Given the description of an element on the screen output the (x, y) to click on. 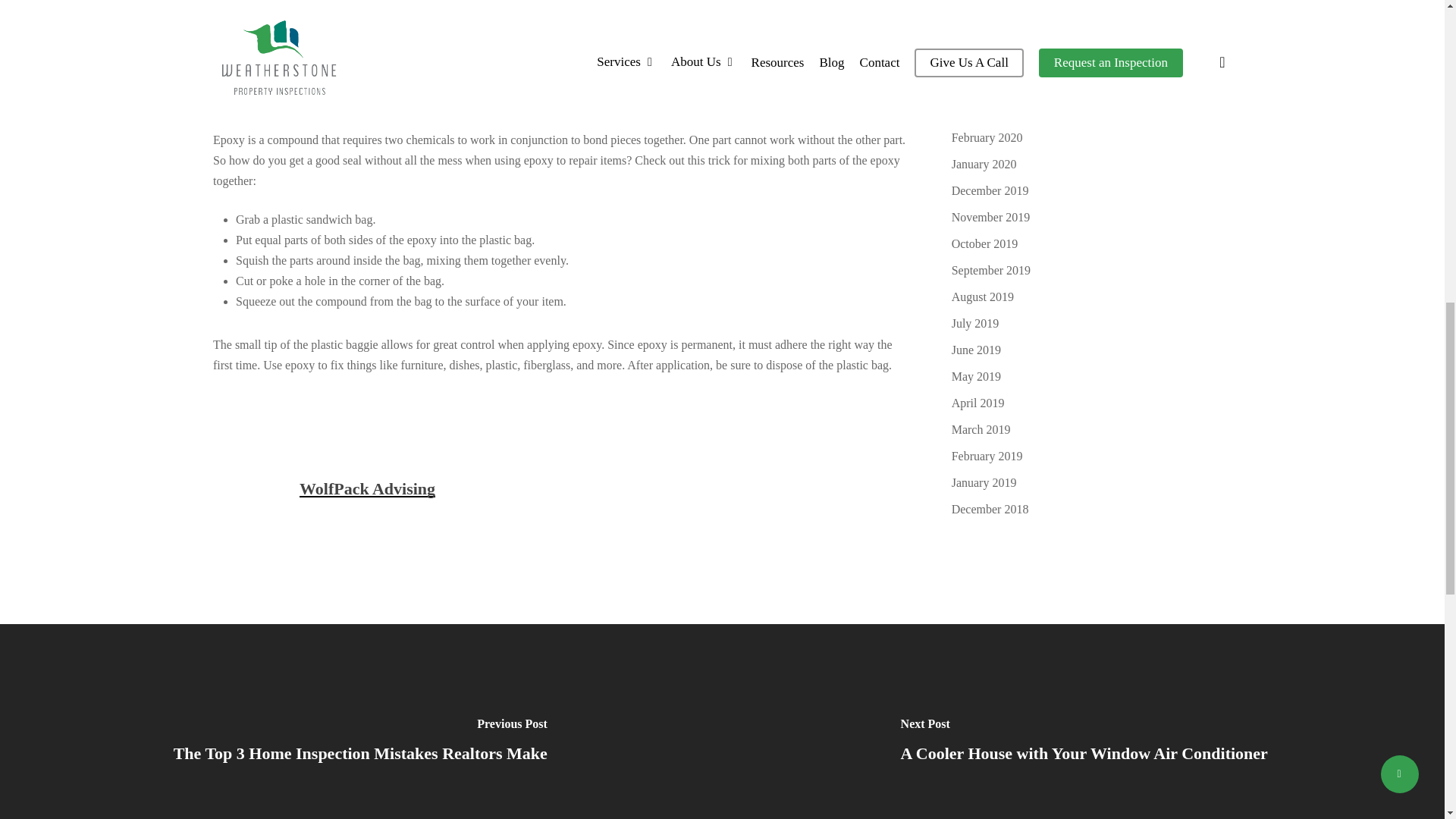
April 2020 (1091, 84)
March 2020 (1091, 110)
June 2020 (1091, 31)
February 2020 (1091, 137)
May 2020 (1091, 57)
WolfPack Advising (367, 488)
July 2020 (1091, 7)
